Given the description of an element on the screen output the (x, y) to click on. 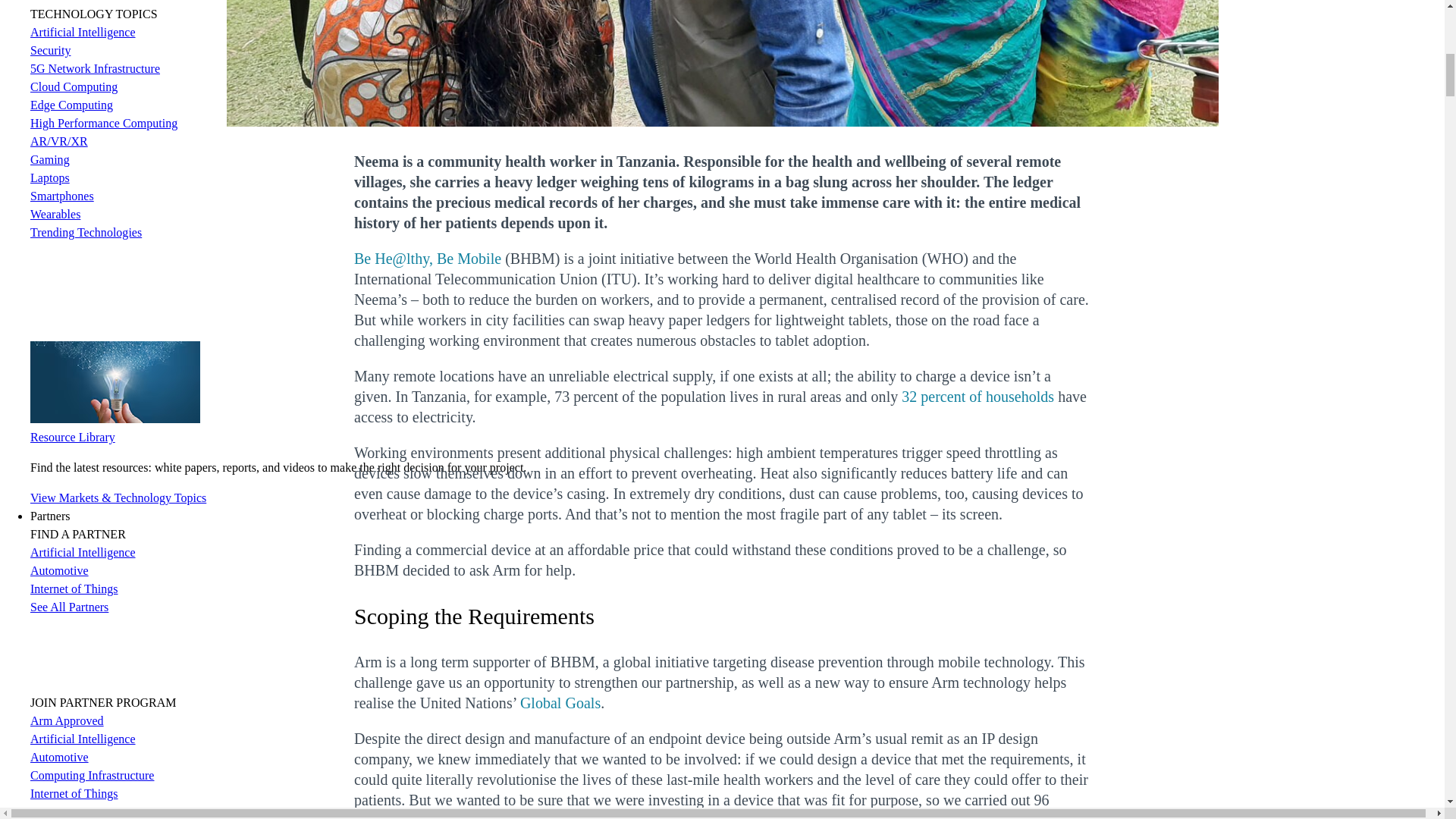
32 percent of households (977, 396)
Global Goals (559, 702)
